Given the description of an element on the screen output the (x, y) to click on. 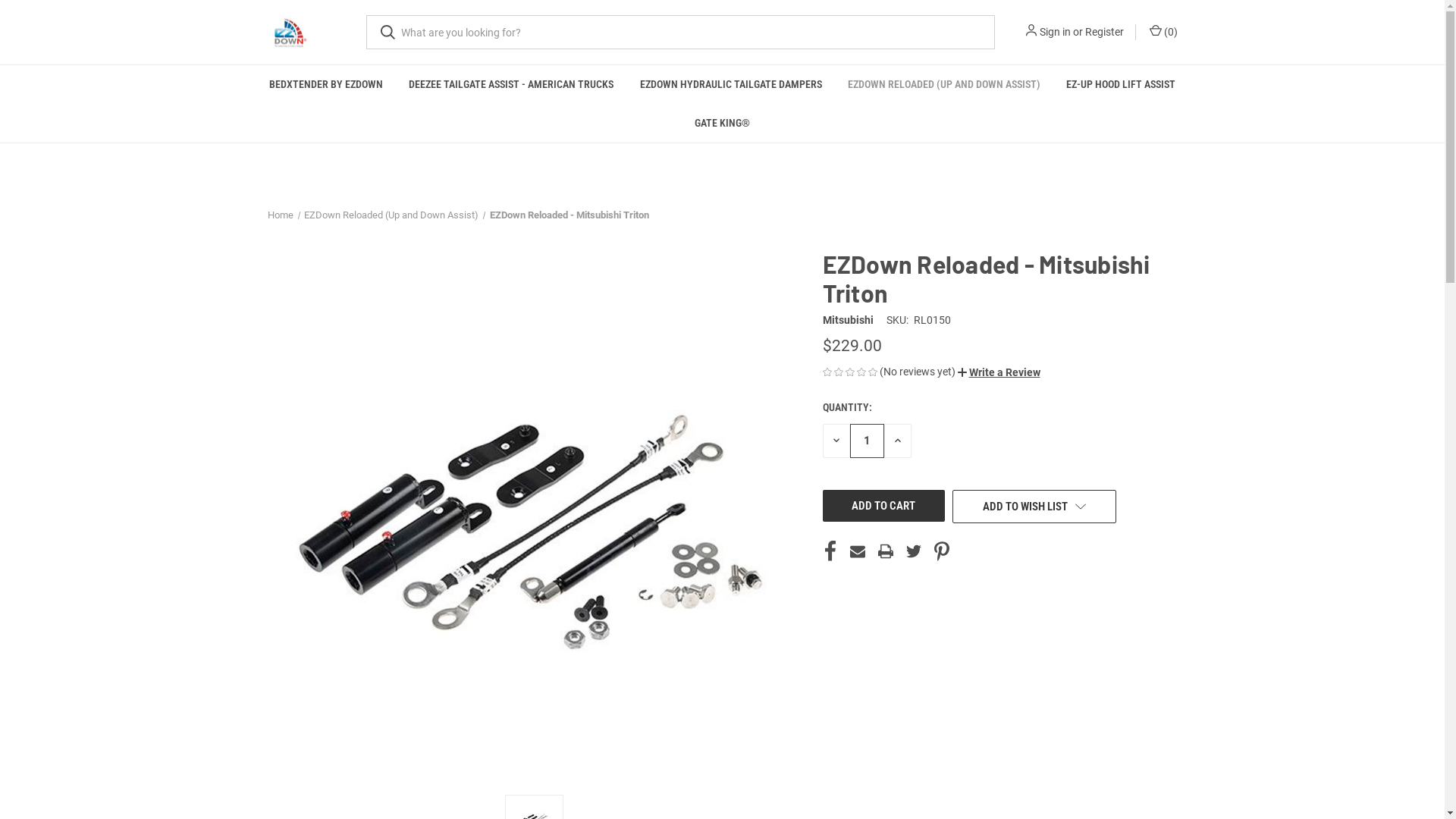
ADD TO WISH LIST Element type: text (1034, 506)
EZDown Reloaded (Up and Down Assist) Element type: text (391, 214)
DECREASE QUANTITY OF UNDEFINED Element type: text (835, 440)
DEEZEE TAILGATE ASSIST - AMERICAN TRUCKS Element type: text (510, 84)
Register Element type: text (1103, 32)
EZDOWN HYDRAULIC TAILGATE DAMPERS Element type: text (730, 84)
Print Element type: hover (885, 550)
Home Element type: text (279, 214)
Pinterest Element type: hover (941, 550)
EZ-UP HOOD LIFT ASSIST Element type: text (1120, 84)
(0) Element type: text (1161, 32)
Write a Review Element type: text (998, 372)
EZDown Reloaded - Mitsubishi Triton Element type: text (569, 214)
Sign in Element type: text (1054, 32)
Facebook Element type: hover (829, 550)
Write a Review Element type: text (998, 372)
Email Element type: hover (857, 550)
Twitter Element type: hover (913, 550)
BEDXTENDER BY EZDOWN Element type: text (325, 84)
EZDown Reloaded - Mitsubishi Triton Element type: hover (533, 515)
Mitsubishi Element type: text (847, 319)
EZDOWN RELOADED (UP AND DOWN ASSIST) Element type: text (943, 84)
Add to Cart Element type: text (883, 505)
INCREASE QUANTITY OF UNDEFINED Element type: text (897, 440)
EZ Down Australia Element type: hover (287, 32)
